Given the description of an element on the screen output the (x, y) to click on. 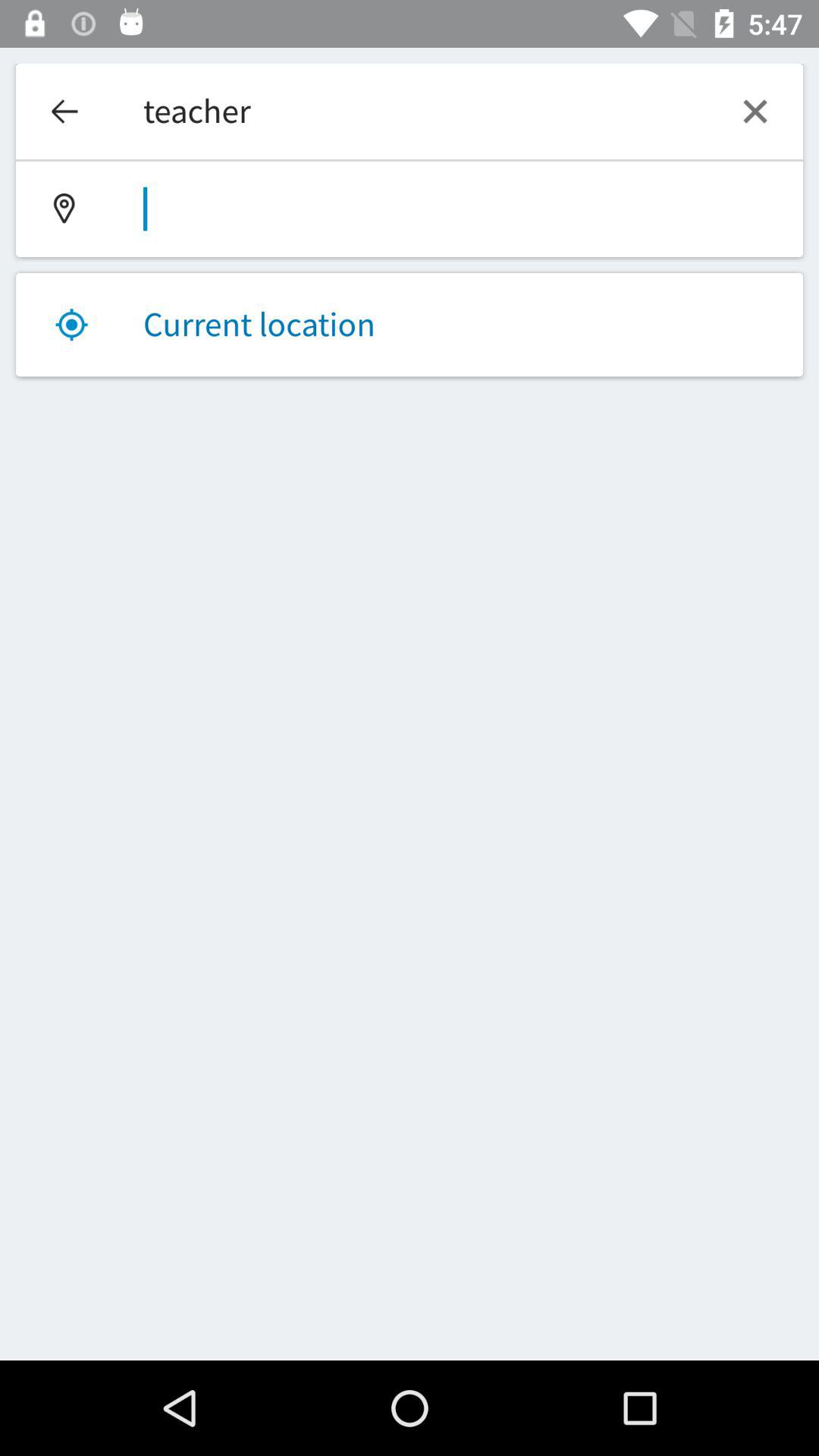
input field for location (409, 209)
